Given the description of an element on the screen output the (x, y) to click on. 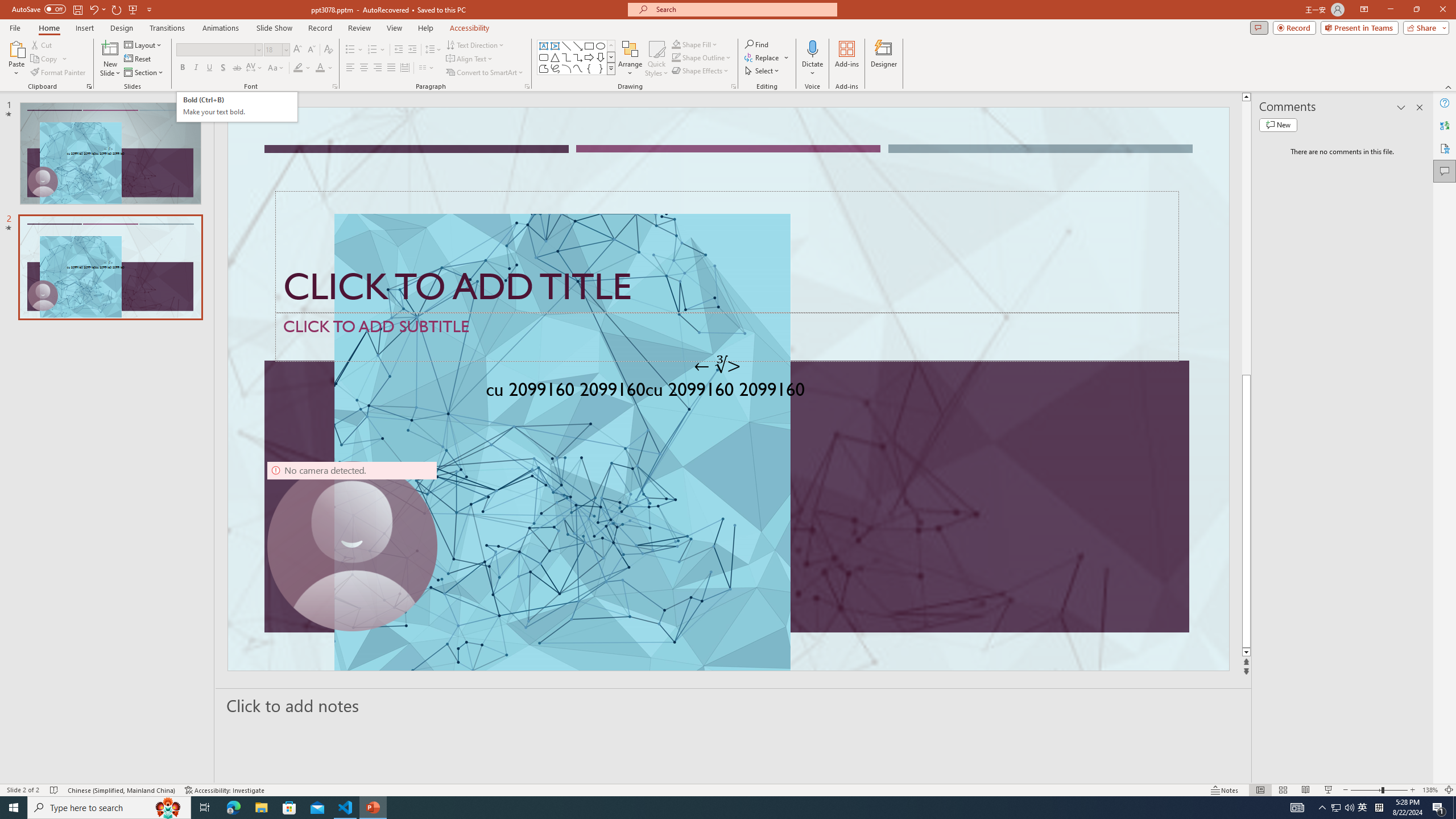
Layout (143, 44)
Increase Indent (412, 49)
Customize Quick Access Toolbar (149, 9)
Decrease Font Size (310, 49)
Isosceles Triangle (554, 57)
Shapes (611, 68)
Text Direction (476, 44)
Numbering (376, 49)
Zoom In (1412, 790)
Share (1423, 27)
TextBox 7 (717, 364)
Class: MsoCommandBar (728, 789)
Align Text (470, 58)
Slide (110, 267)
New Slide (110, 58)
